Given the description of an element on the screen output the (x, y) to click on. 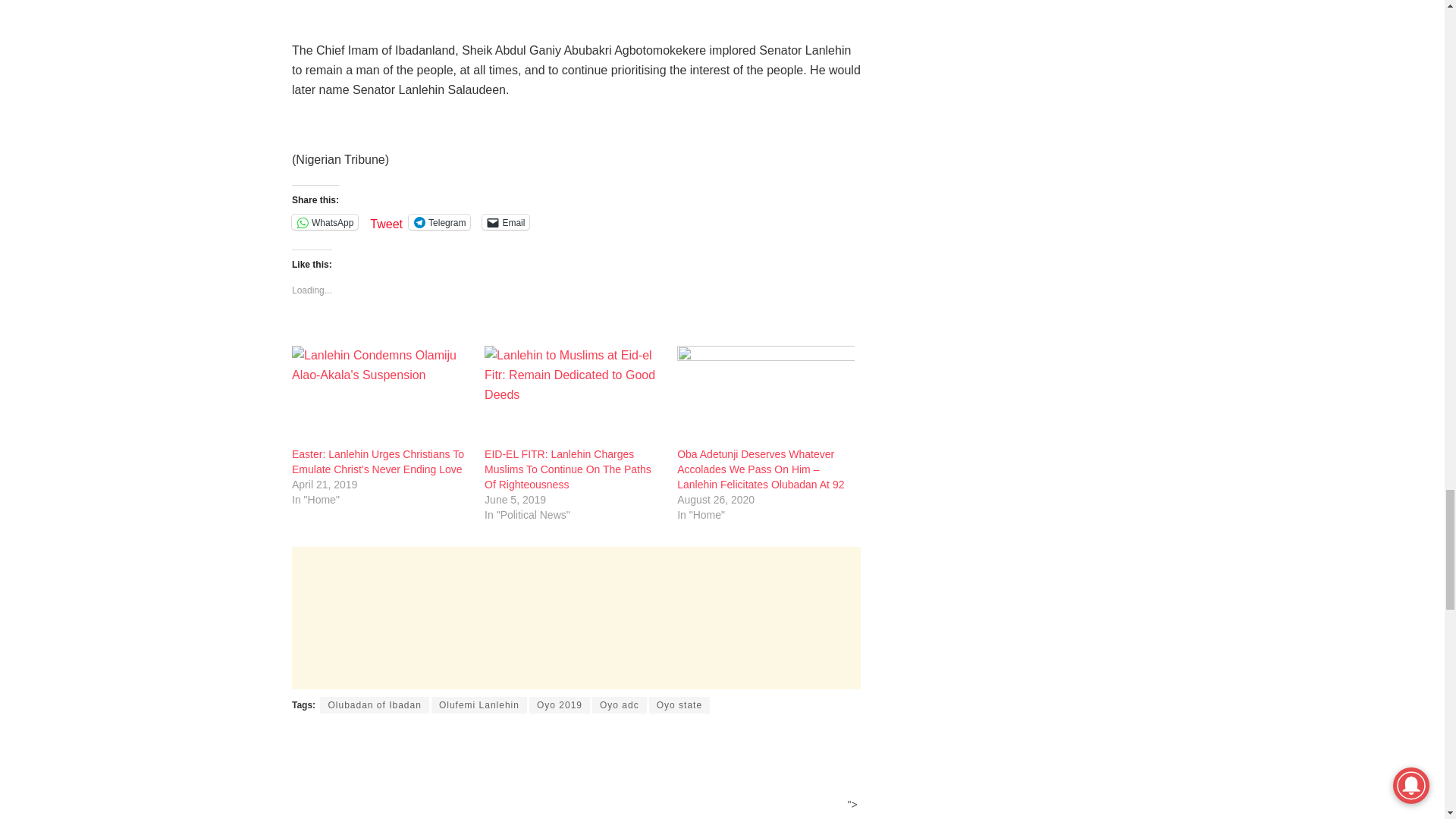
Click to email a link to a friend (505, 222)
Click to share on WhatsApp (325, 222)
Click to share on Telegram (439, 222)
